Given the description of an element on the screen output the (x, y) to click on. 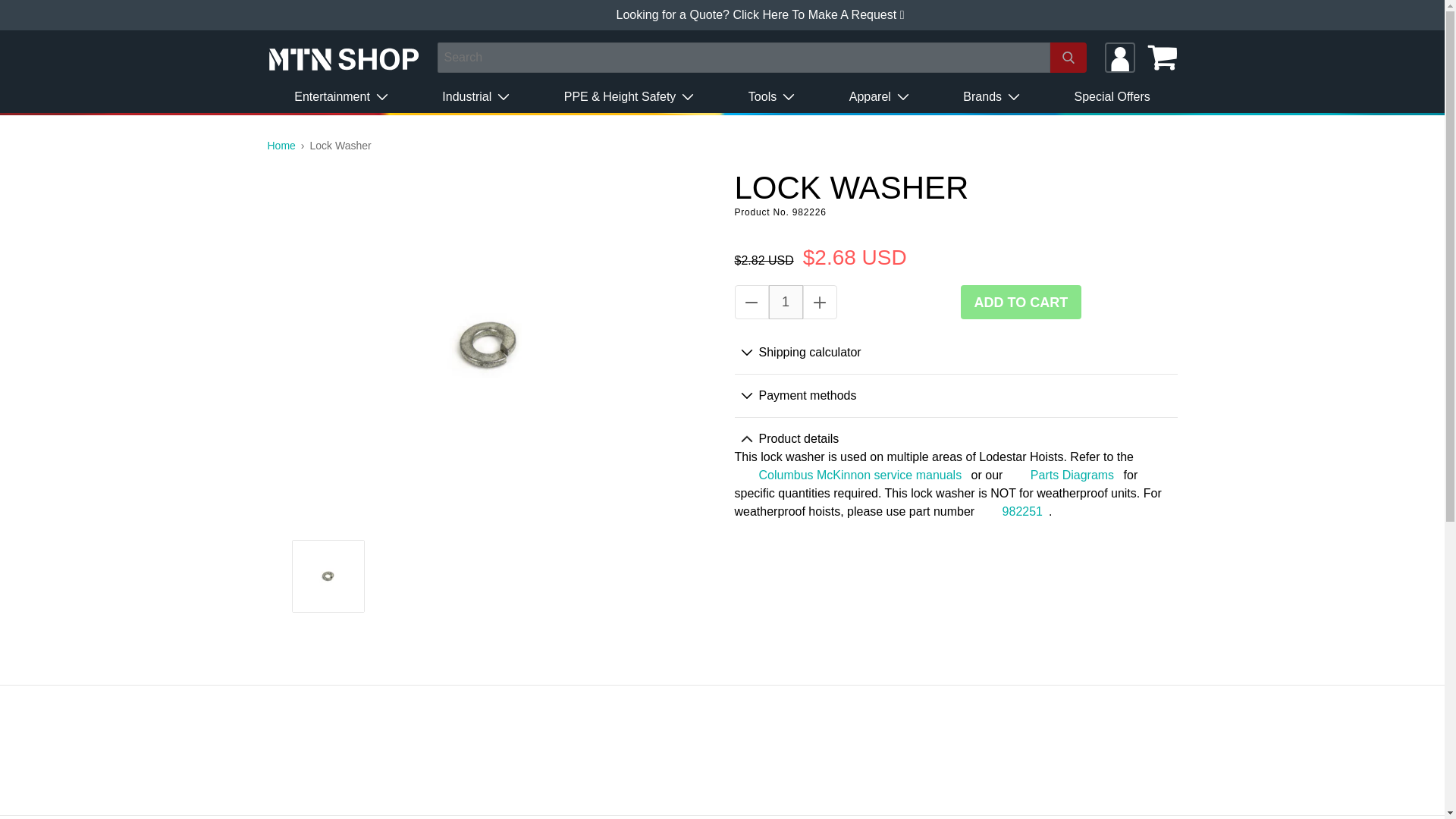
Log in (1118, 57)
MTN SHOP (287, 145)
Cart (1161, 57)
1 (785, 302)
Entertainment (341, 96)
